Given the description of an element on the screen output the (x, y) to click on. 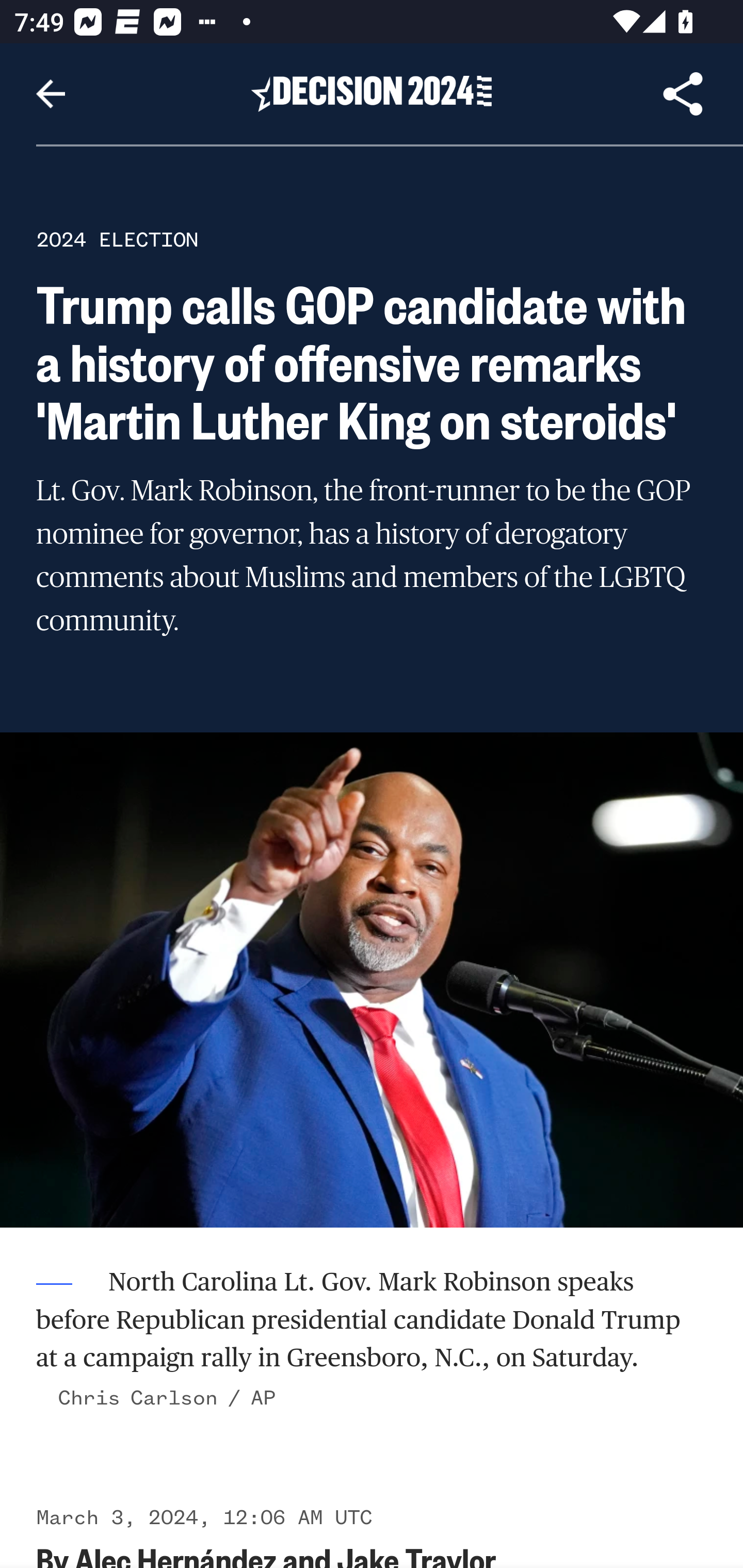
Navigate up (50, 93)
Share Article, button (683, 94)
Header, Decision 2024 (371, 93)
2024 ELECTION (117, 239)
